Given the description of an element on the screen output the (x, y) to click on. 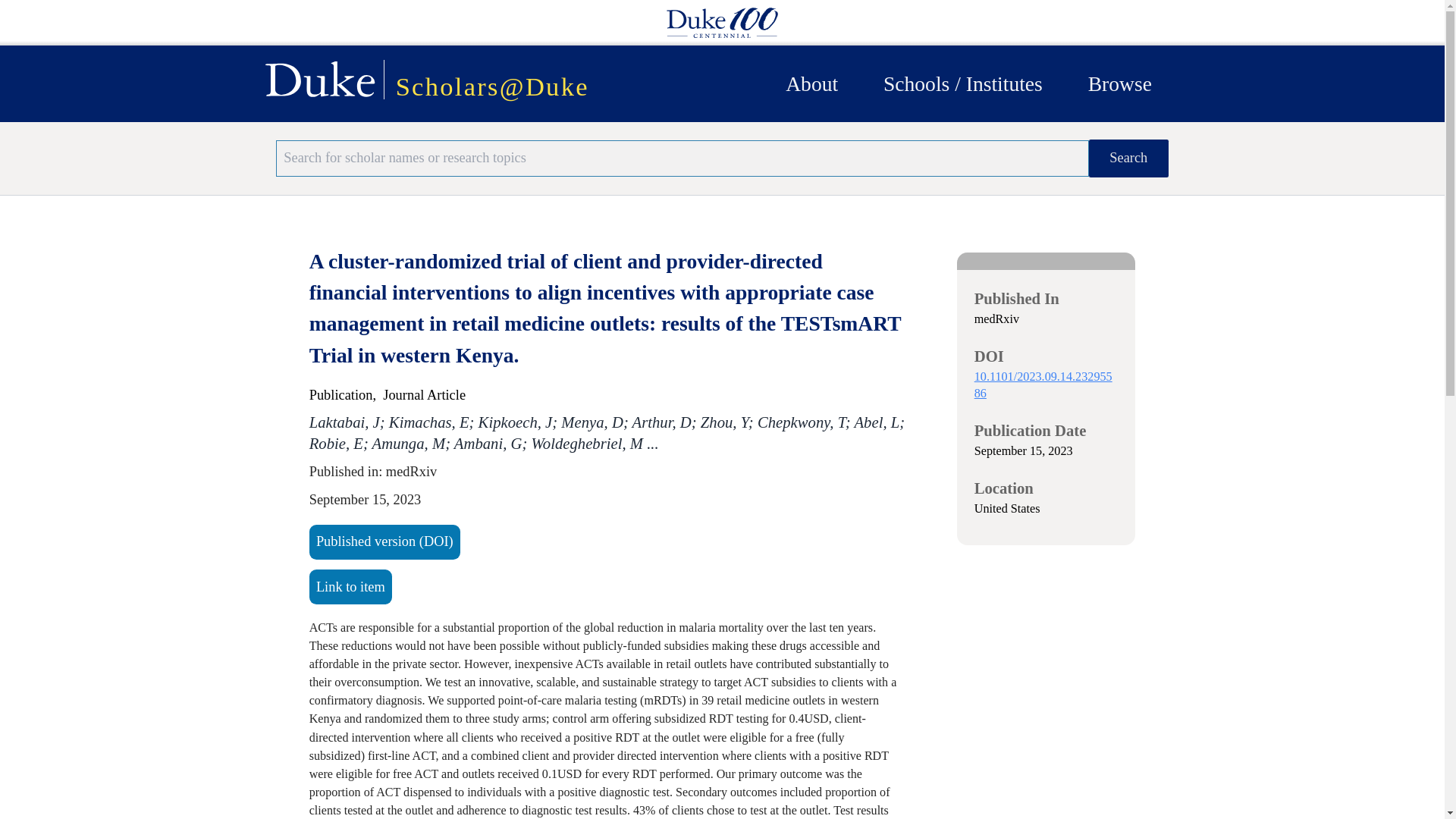
Search (1129, 158)
Search (1129, 158)
Browse (1119, 83)
Search (1129, 158)
Link to item (349, 592)
About (812, 83)
